Given the description of an element on the screen output the (x, y) to click on. 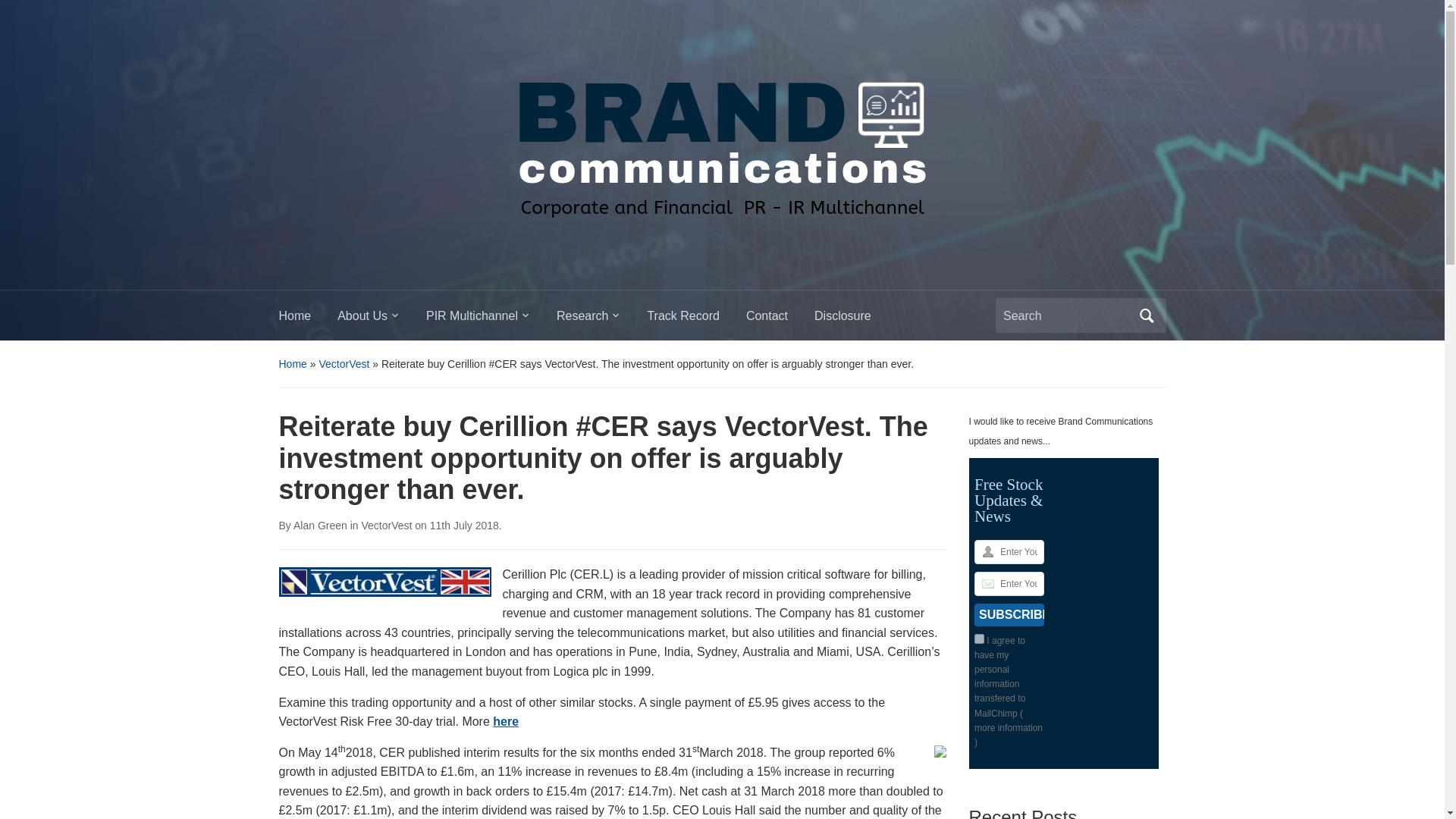
Home (308, 320)
About Us (381, 320)
SUBSCRIBE HERE (1008, 614)
on (979, 638)
View all posts by Alan Green (320, 525)
 -  (721, 139)
PIR Multichannel (491, 320)
10:13 am (464, 525)
